Given the description of an element on the screen output the (x, y) to click on. 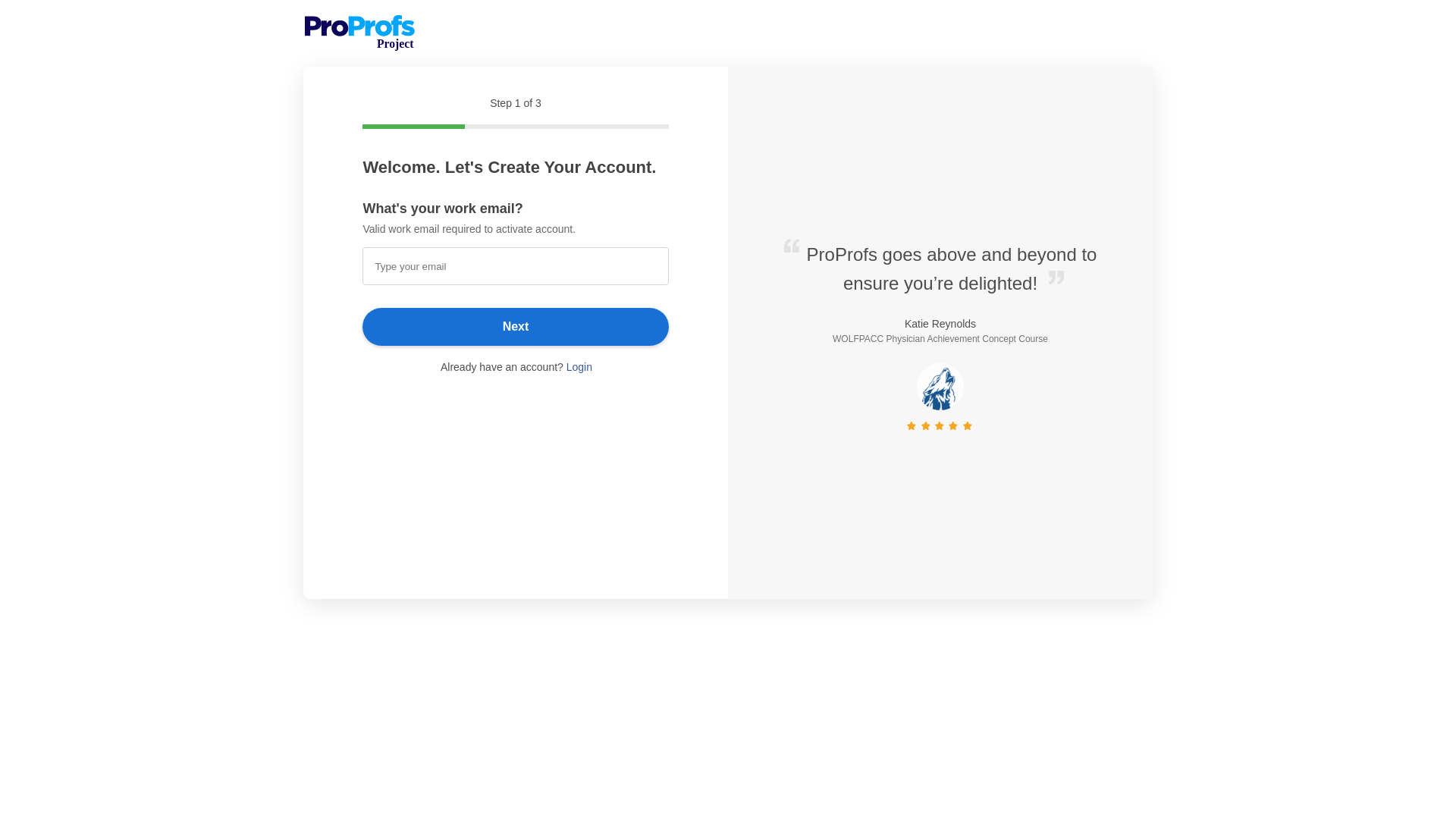
Next (515, 326)
Login (579, 367)
